Given the description of an element on the screen output the (x, y) to click on. 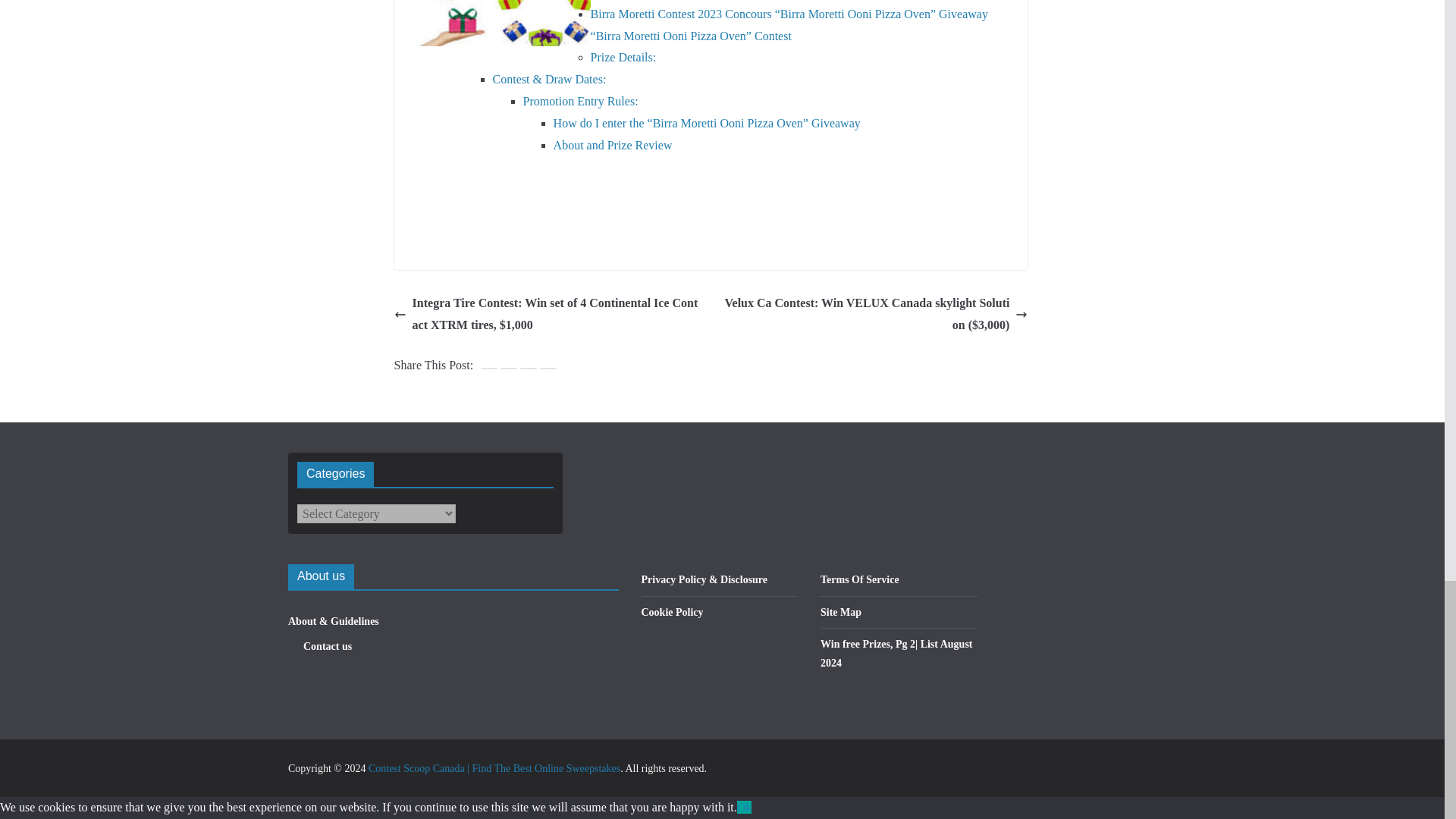
Prize Details: (623, 56)
Cookie Policy (672, 612)
Terms Of Service (860, 579)
Contact us (327, 645)
Site Map (841, 612)
Promotion Entry Rules: (580, 101)
About and Prize Review (612, 144)
